Given the description of an element on the screen output the (x, y) to click on. 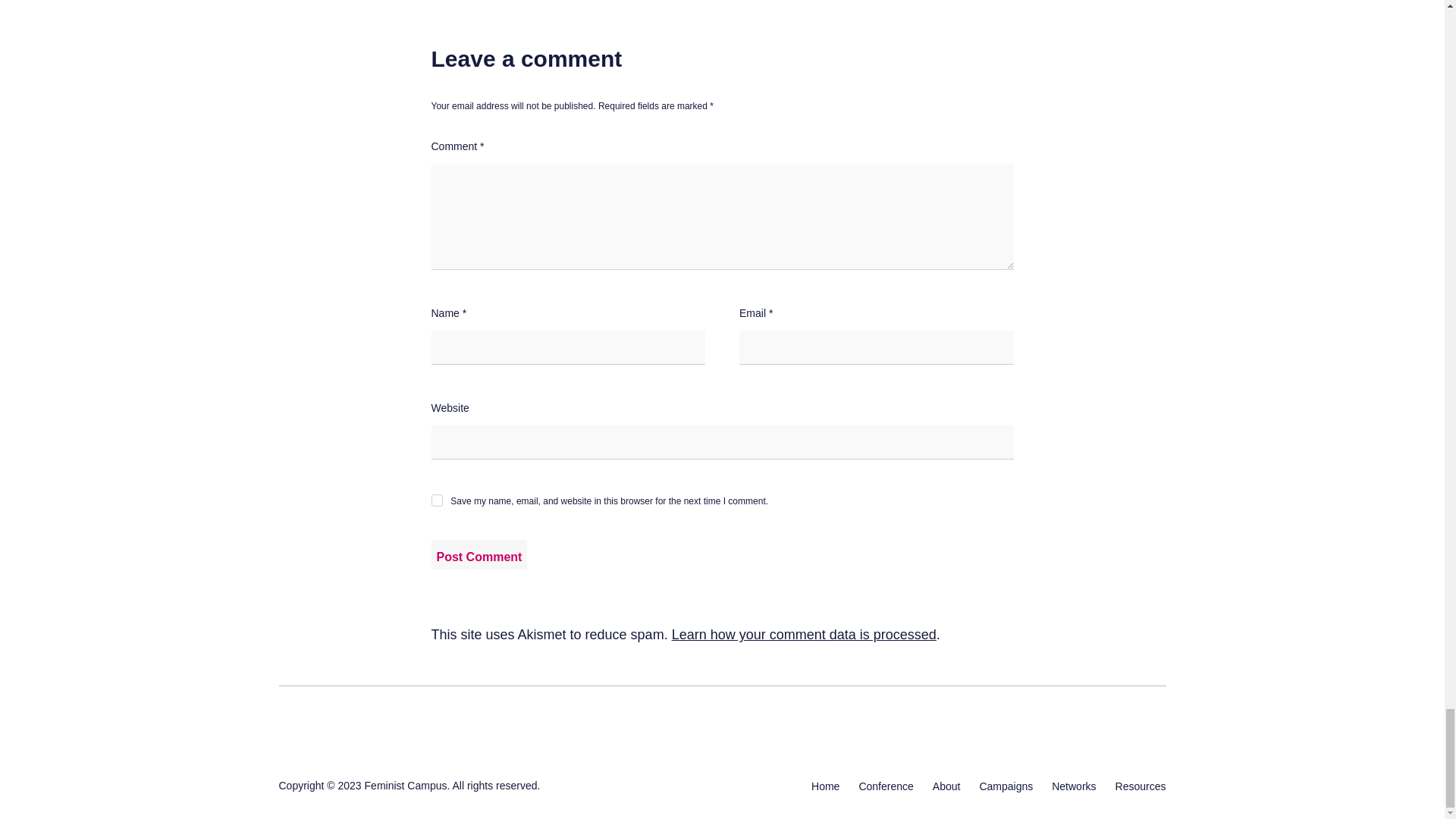
yes (436, 500)
Post Comment (478, 554)
